Given the description of an element on the screen output the (x, y) to click on. 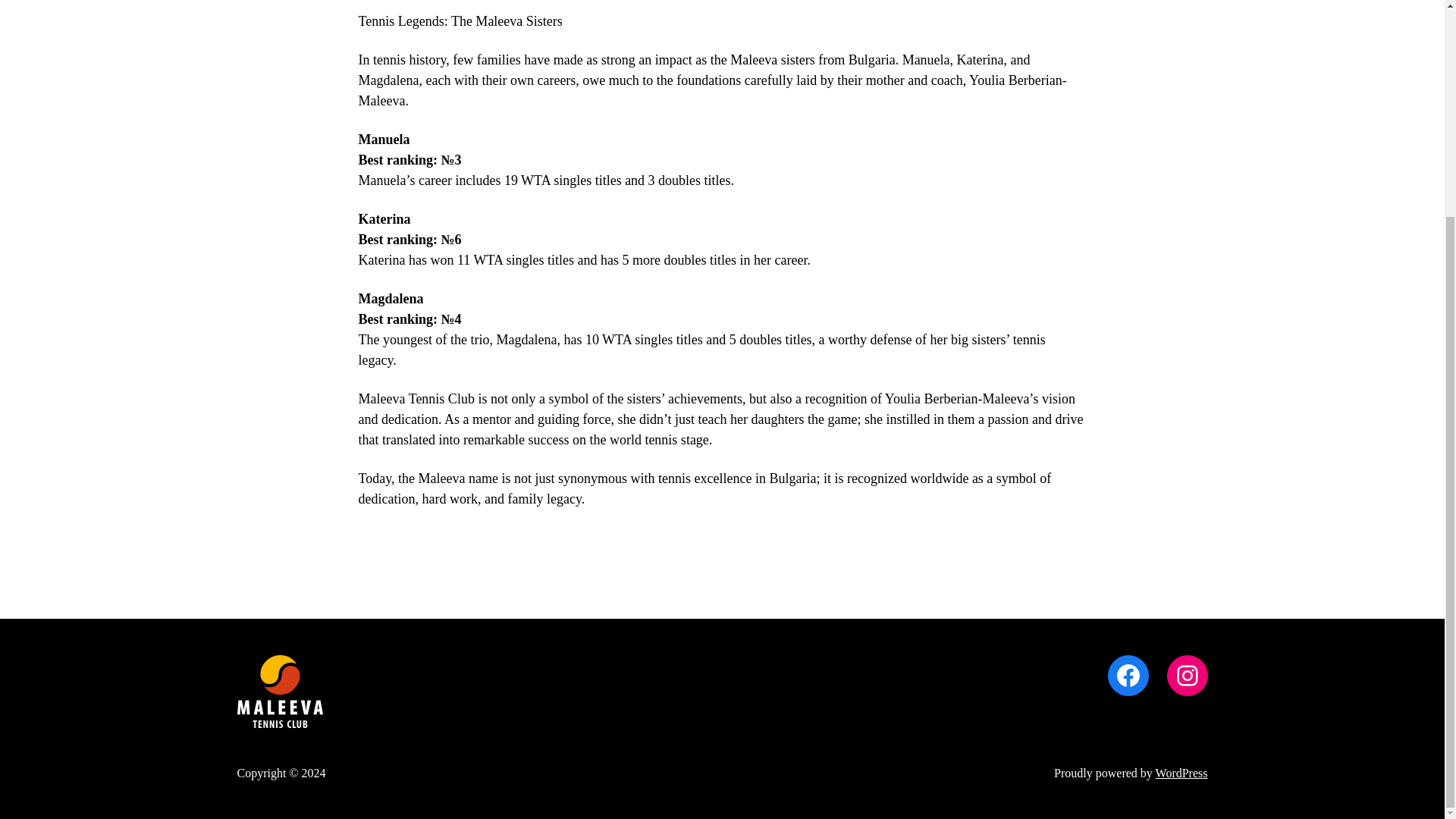
Facebook (1127, 675)
WordPress (1182, 772)
Instagram (1186, 675)
